Given the description of an element on the screen output the (x, y) to click on. 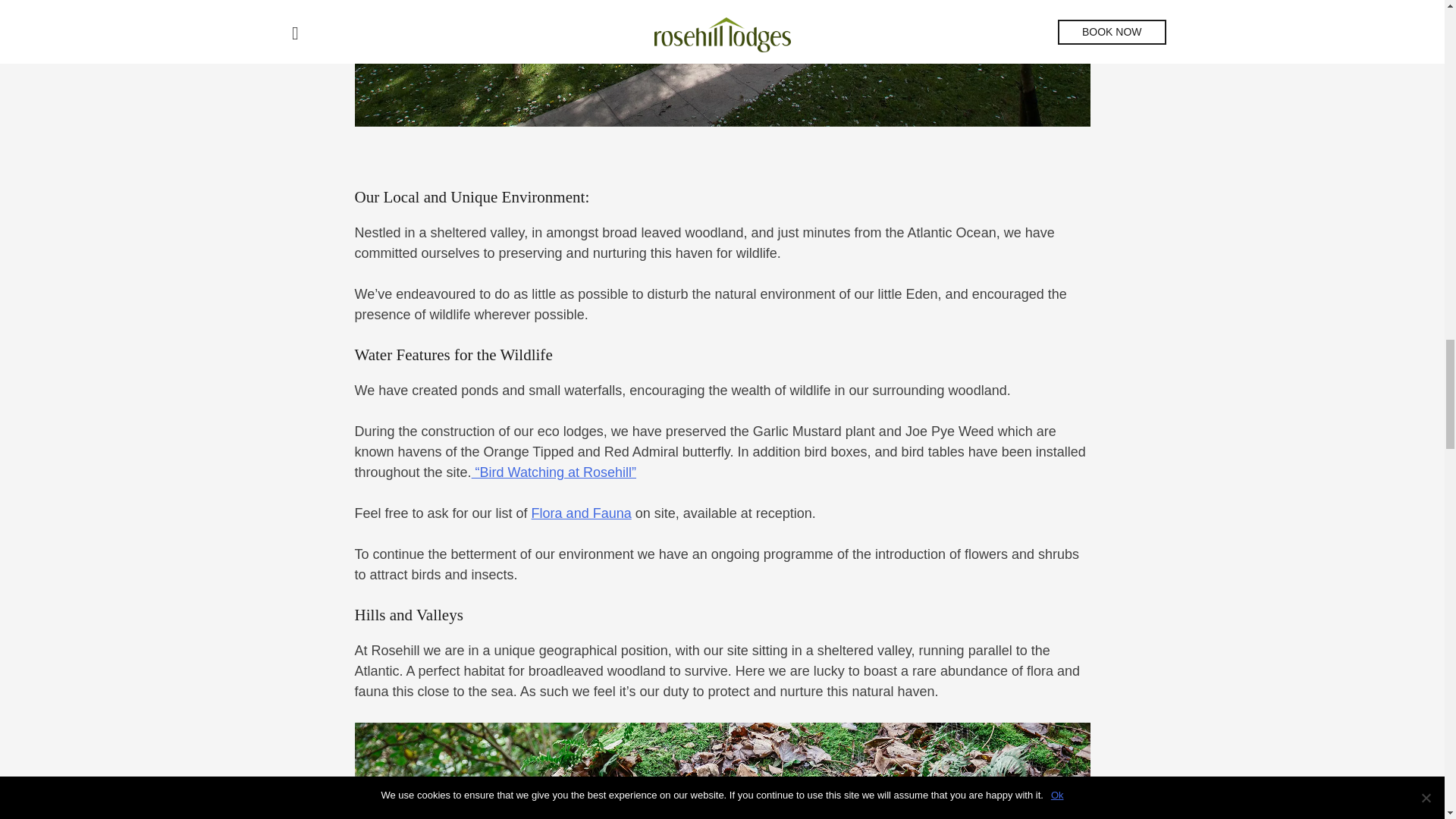
Flora and Fauna (581, 513)
